Given the description of an element on the screen output the (x, y) to click on. 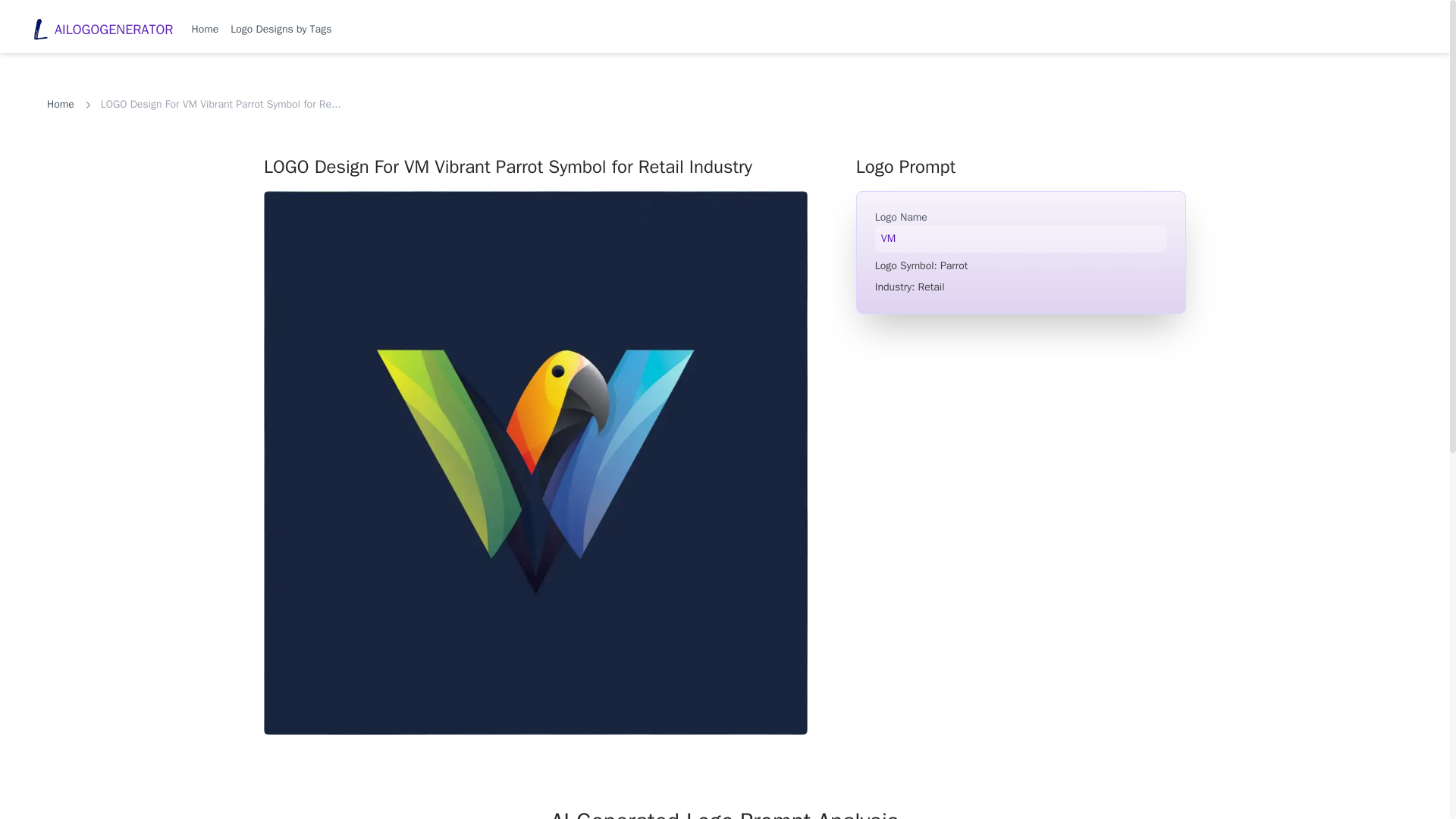
Home (204, 29)
Home (60, 104)
AILOGOGENERATOR (101, 29)
Logo Designs by Tags (280, 29)
